Given the description of an element on the screen output the (x, y) to click on. 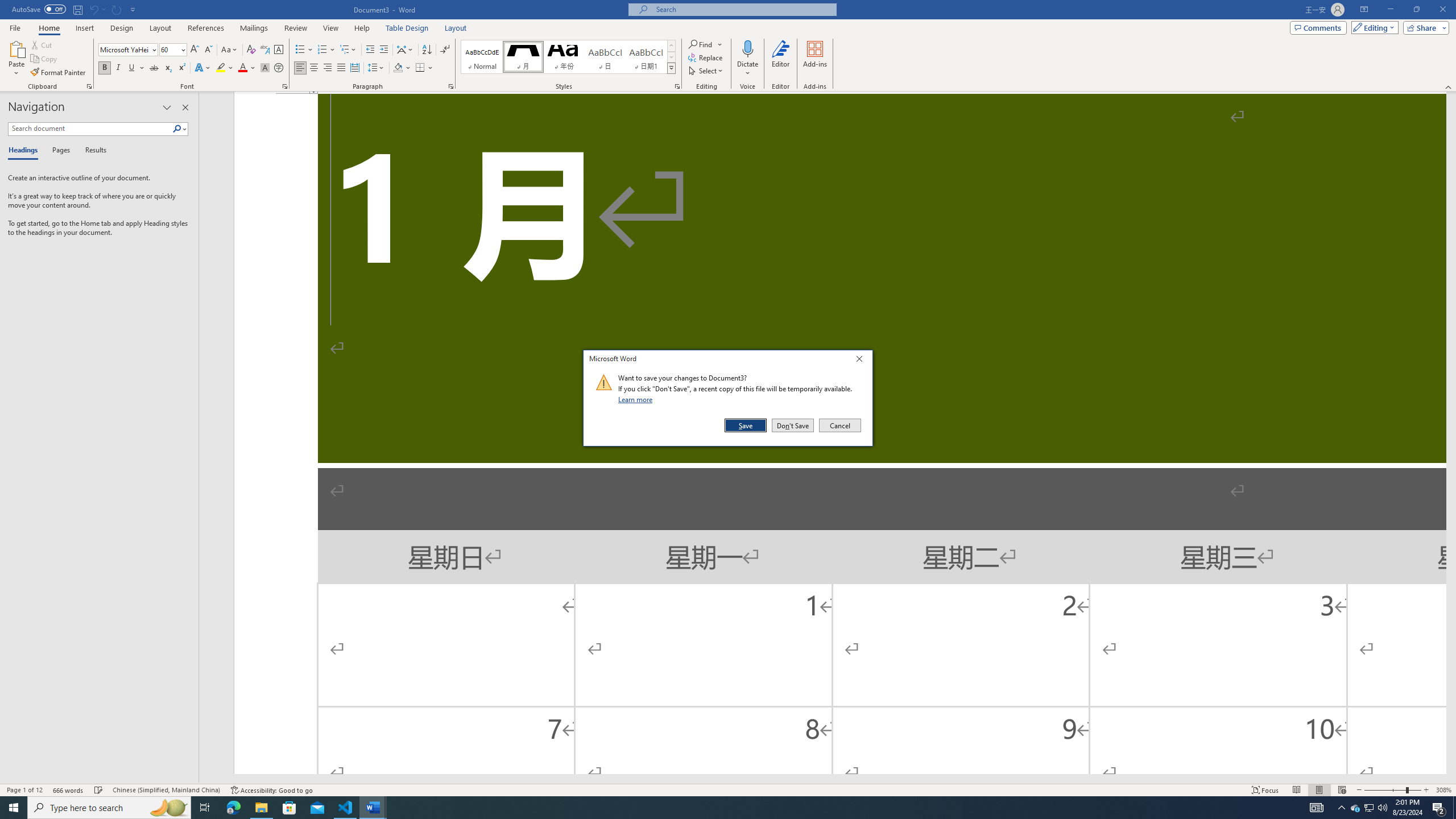
Character Shading (264, 67)
Clear Formatting (250, 49)
Task View (204, 807)
Text Highlight Color (224, 67)
Header -Section 1- (839, 92)
Sort... (426, 49)
Text Effects and Typography (202, 67)
Shrink Font (208, 49)
Language Chinese (Simplified, Mainland China) (165, 790)
Font... (285, 85)
Dictate (747, 48)
Spelling and Grammar Check Checking (98, 790)
Ribbon Display Options (1364, 9)
